Given the description of an element on the screen output the (x, y) to click on. 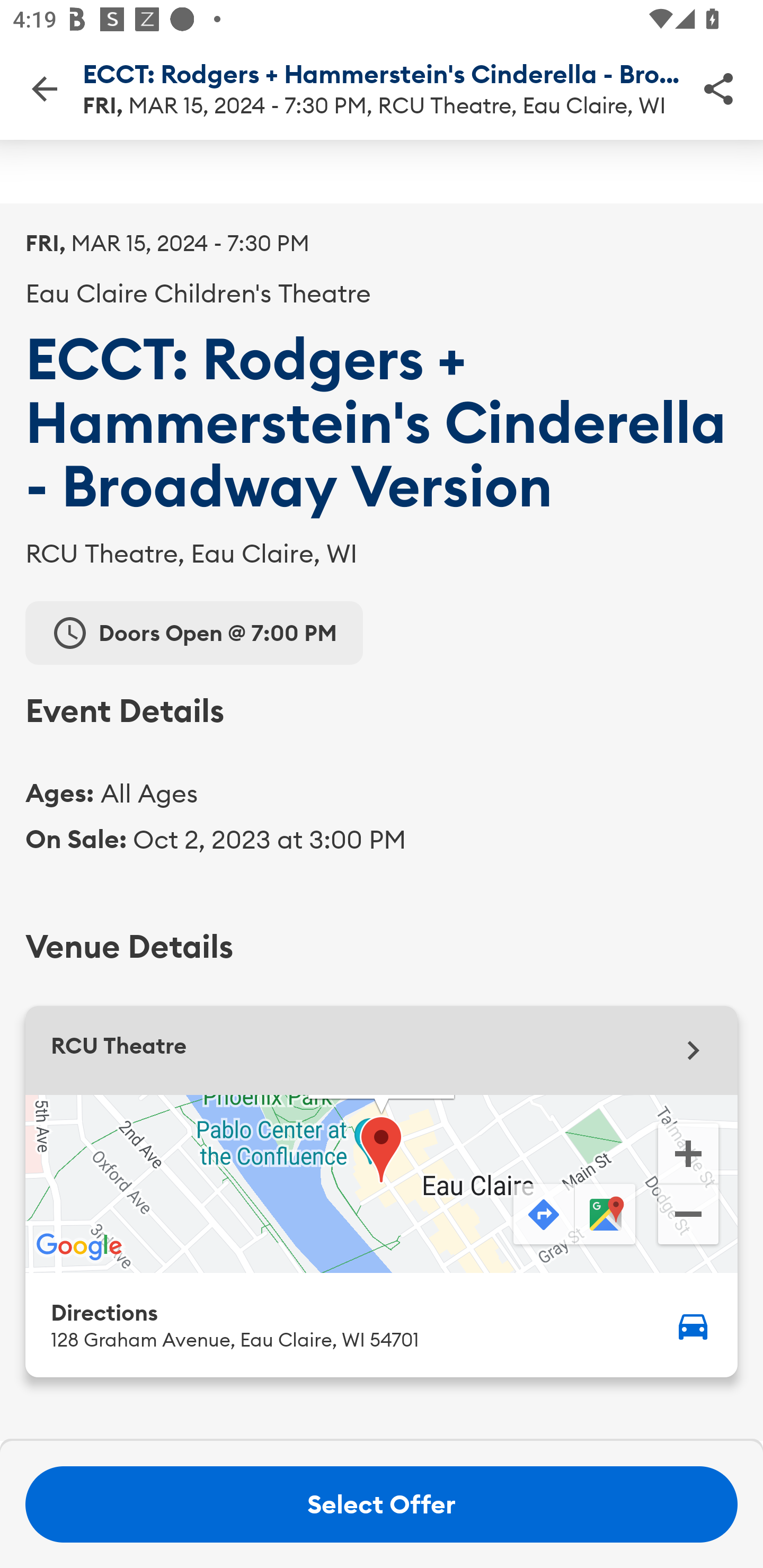
BackButton (44, 88)
Share (718, 88)
RCU Theatre (381, 1050)
Zoom in (687, 1152)
Get directions (541, 1214)
Open in Google Maps (606, 1214)
Zoom out (687, 1216)
Directions 128 Graham Avenue, Eau Claire, WI 54701 (381, 1324)
Select Offer (381, 1504)
